Given the description of an element on the screen output the (x, y) to click on. 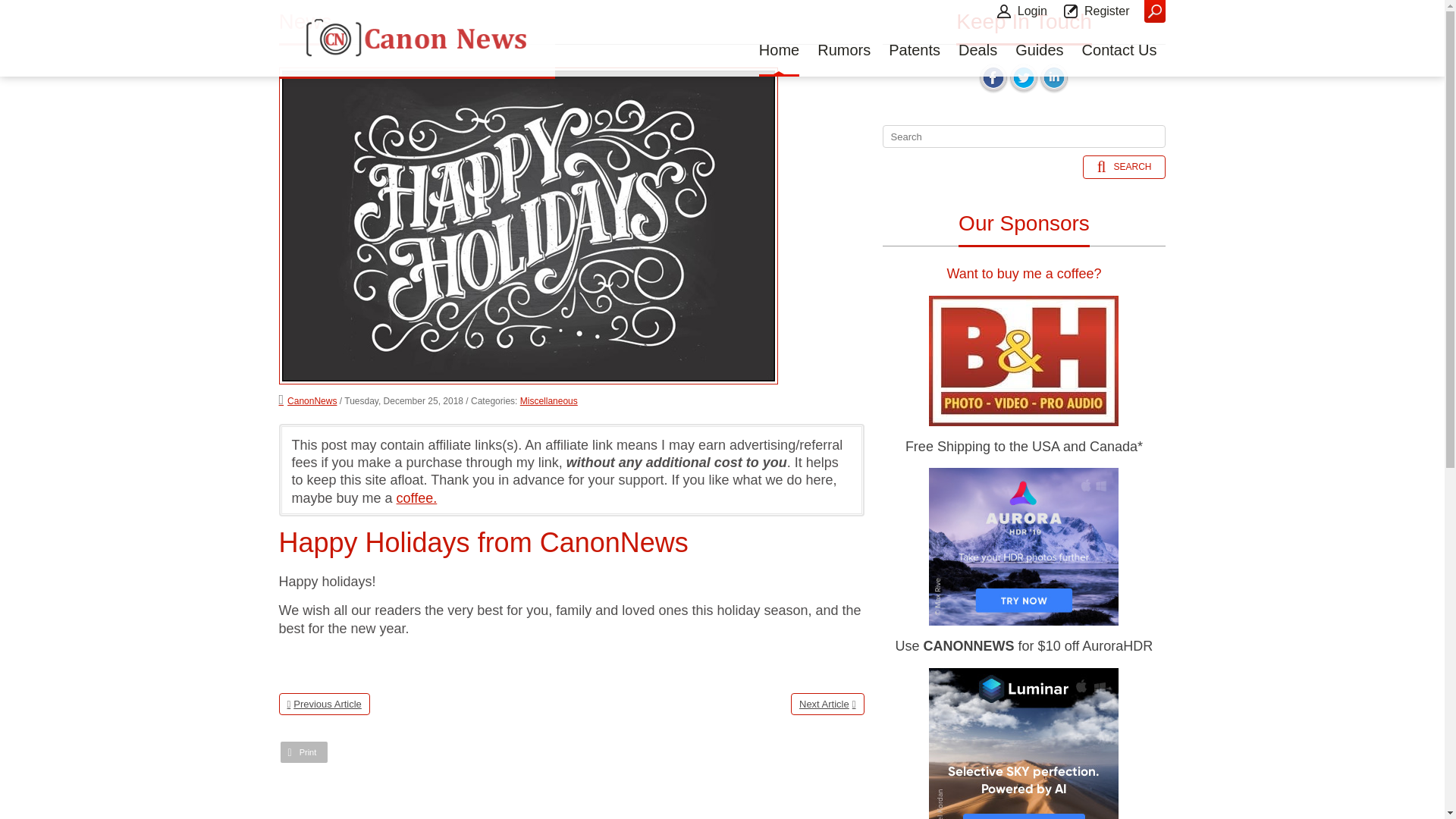
coffee. (417, 498)
Next Article (827, 703)
Twitter (1024, 77)
Miscellaneous (548, 400)
Contact Us (1119, 51)
Canon News (416, 38)
Patents (914, 51)
Want to buy me a coffee? (1023, 273)
LinkedIn (1053, 77)
SEARCH (1124, 167)
